Given the description of an element on the screen output the (x, y) to click on. 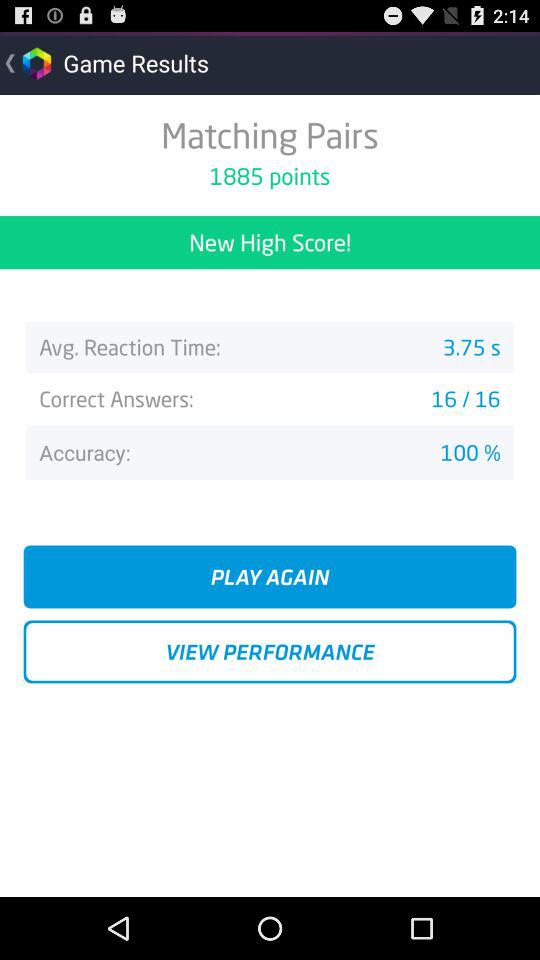
press view performance at the bottom (269, 651)
